Given the description of an element on the screen output the (x, y) to click on. 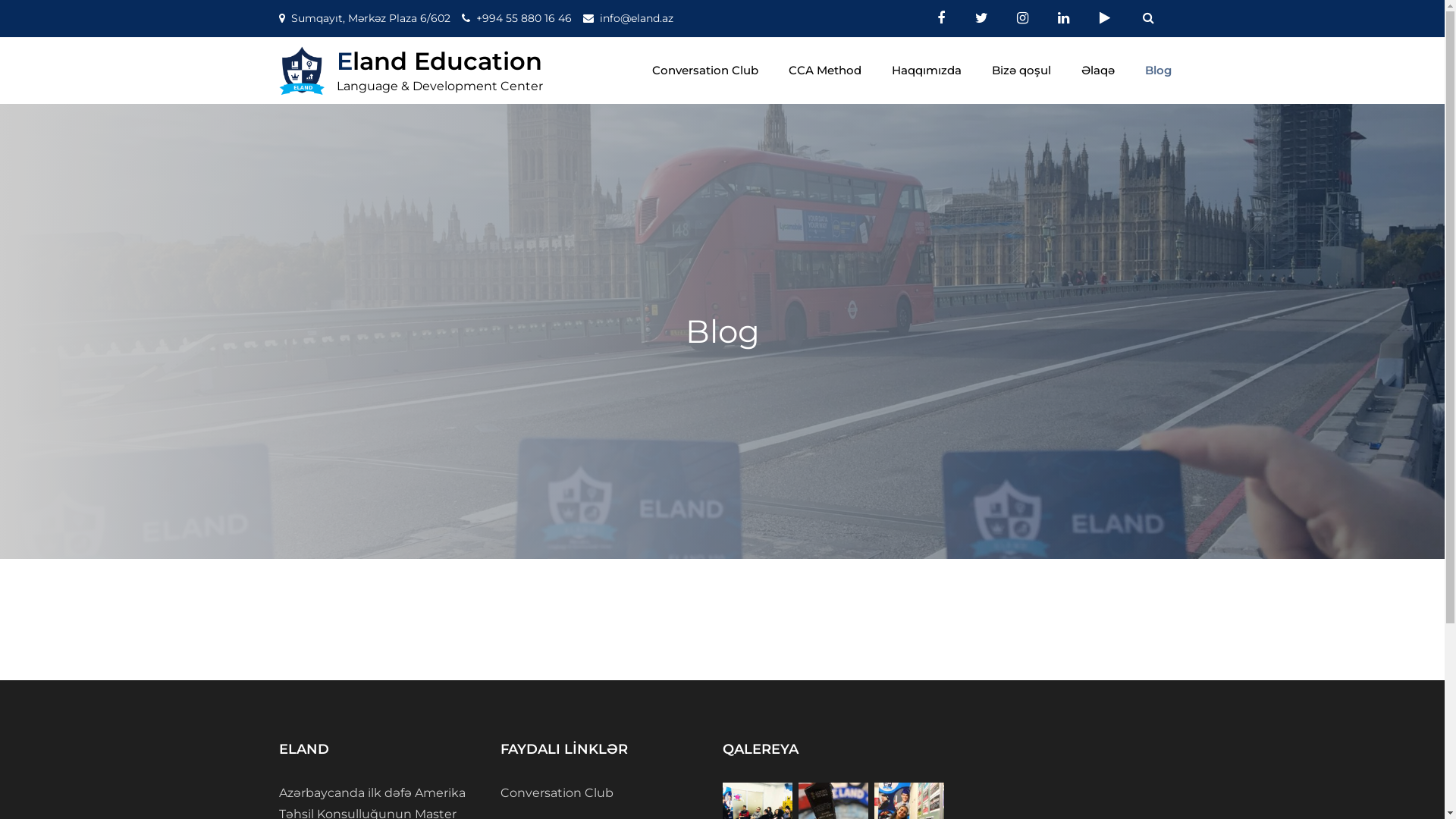
Conversation Club Element type: text (556, 792)
Blog Element type: text (1158, 70)
info@eland.az Element type: text (635, 18)
Conversation Club Element type: text (704, 70)
+994 55 880 16 46 Element type: text (523, 18)
Eland Education Element type: text (439, 60)
CCA Method Element type: text (825, 70)
